Given the description of an element on the screen output the (x, y) to click on. 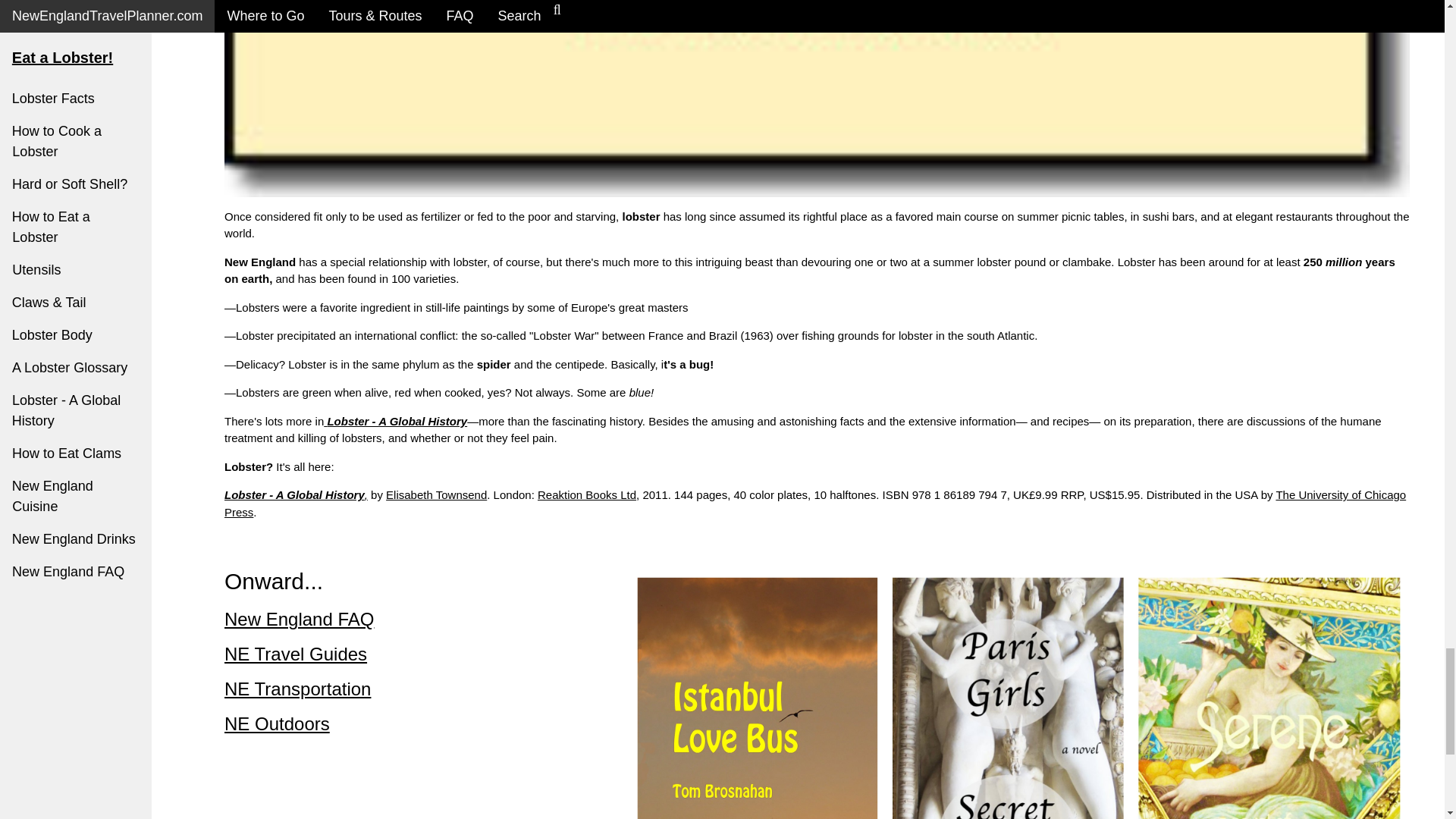
NE Travel Guides (295, 653)
Lobster - A Global History (395, 420)
Elisabeth Townsend (435, 494)
Reaktion Books Ltd (586, 494)
New England FAQ (299, 619)
Lobster - A Global History (294, 494)
NE Transportation (297, 688)
The University of Chicago Press (815, 503)
